Given the description of an element on the screen output the (x, y) to click on. 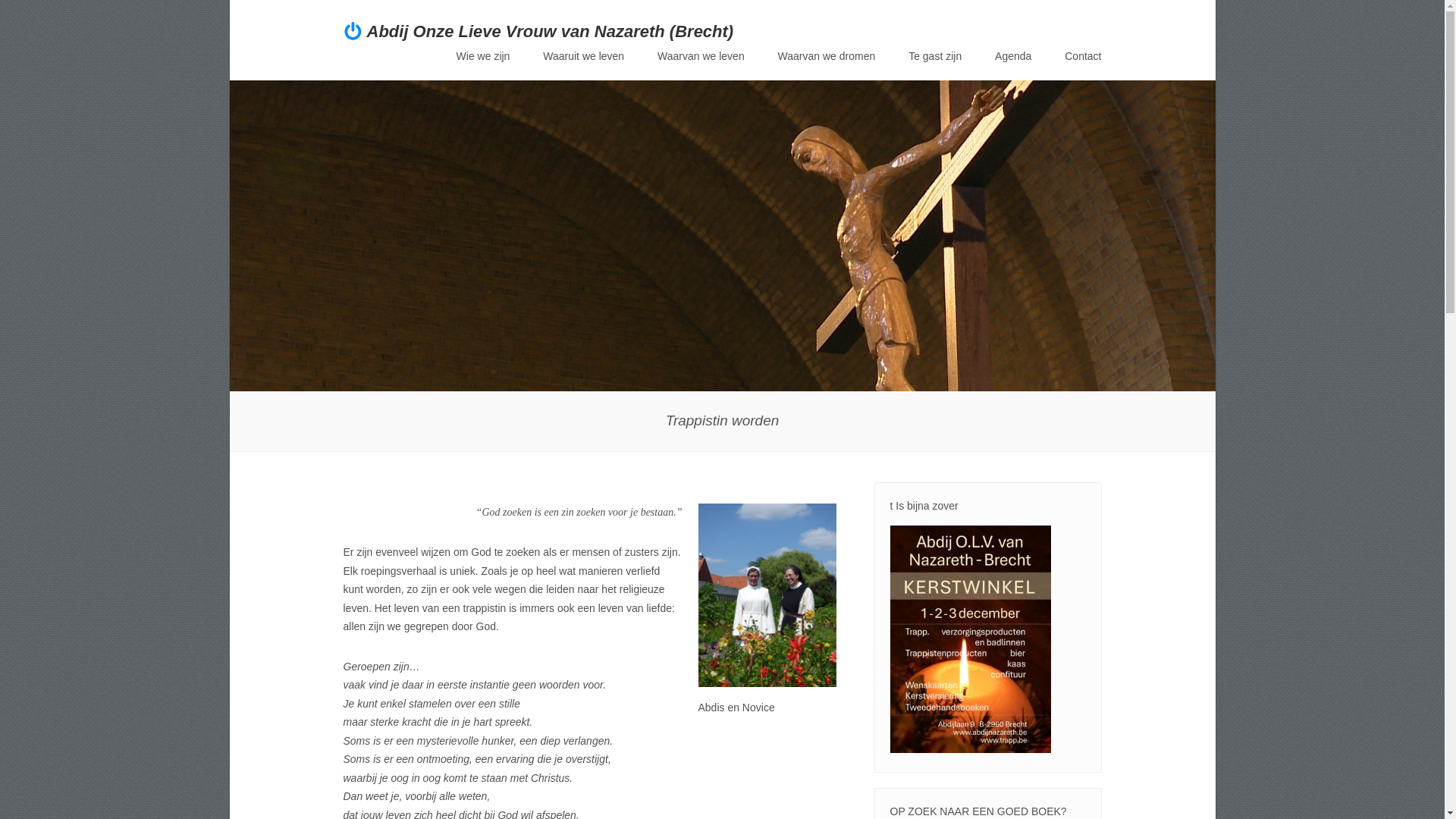
Abdij Onze Lieve Vrouw van Nazareth (Brecht) Element type: text (550, 30)
Te gast zijn Element type: text (934, 55)
Waarvan we dromen Element type: text (826, 55)
Agenda Element type: text (1012, 55)
Waaruit we leven Element type: text (583, 55)
Contact Element type: text (1082, 55)
Waarvan we leven Element type: text (700, 55)
Skip to content Element type: text (493, 59)
Wie we zijn Element type: text (483, 55)
